Given the description of an element on the screen output the (x, y) to click on. 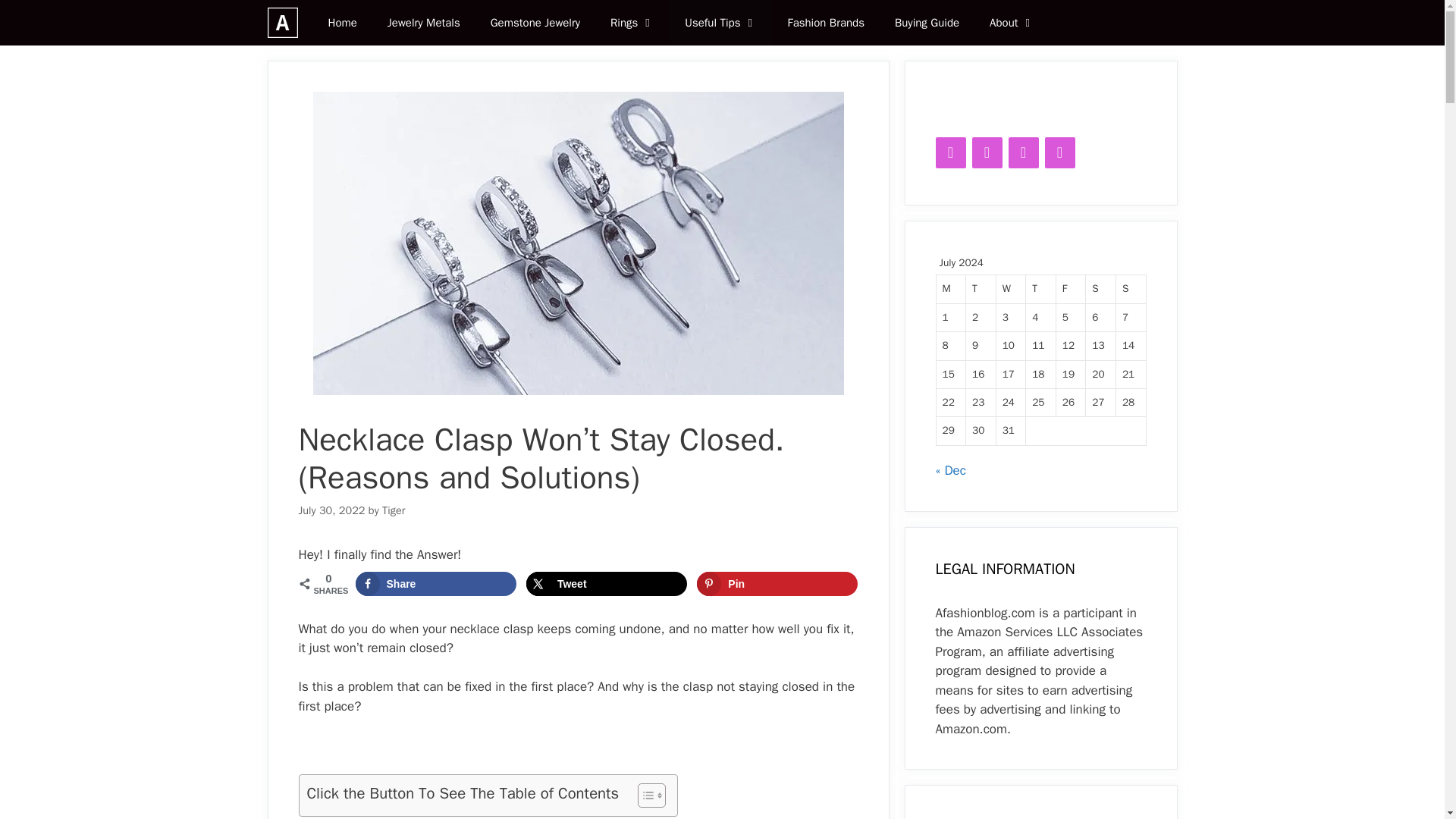
About (1011, 22)
Jewelry Metals (424, 22)
Gemstone Jewelry (535, 22)
Home (342, 22)
View all posts by Tiger (392, 509)
Useful Tips (720, 22)
Share on X (606, 583)
Share (435, 583)
Buying Guide (926, 22)
Share on Facebook (435, 583)
Save to Pinterest (777, 583)
Fashion Brands (825, 22)
Rings (632, 22)
Tiger (392, 509)
